Given the description of an element on the screen output the (x, y) to click on. 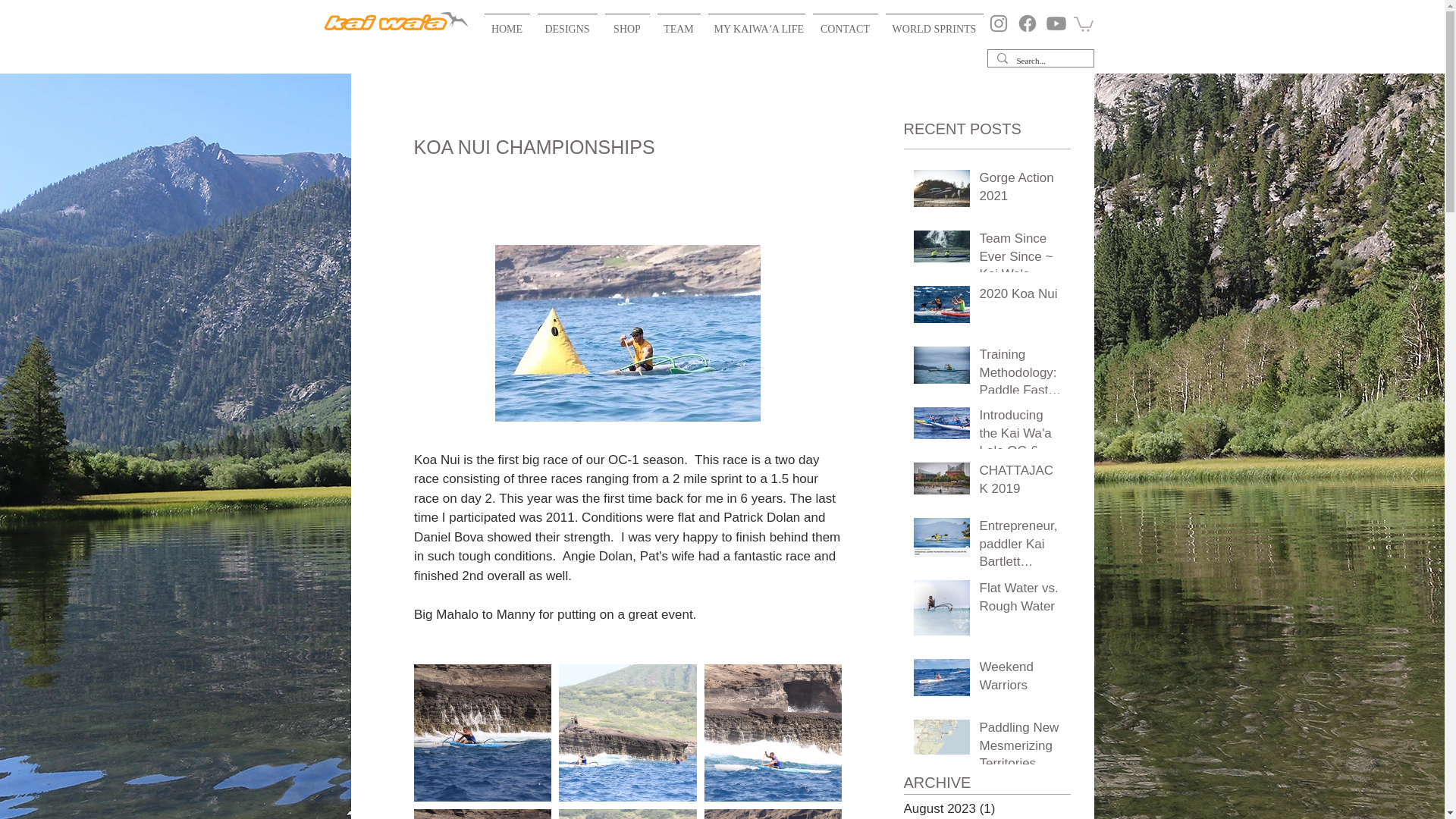
TEAM (678, 22)
SHOP (625, 22)
WORLD SPRINTS (933, 22)
HOME (507, 22)
